Given the description of an element on the screen output the (x, y) to click on. 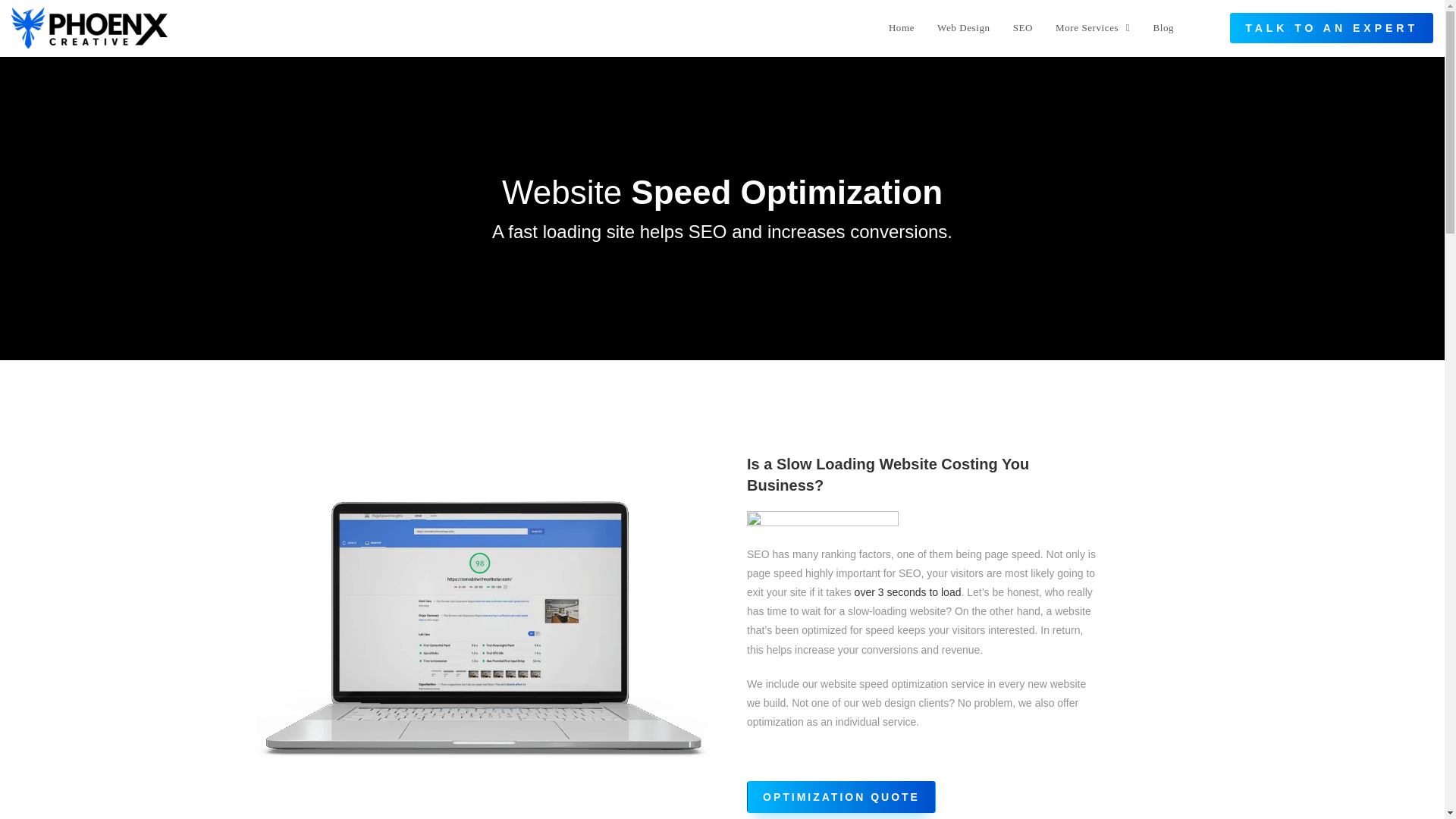
More Services (1092, 28)
over 3 seconds to load (907, 592)
Web Design (963, 28)
OPTIMIZATION QUOTE (841, 797)
